Given the description of an element on the screen output the (x, y) to click on. 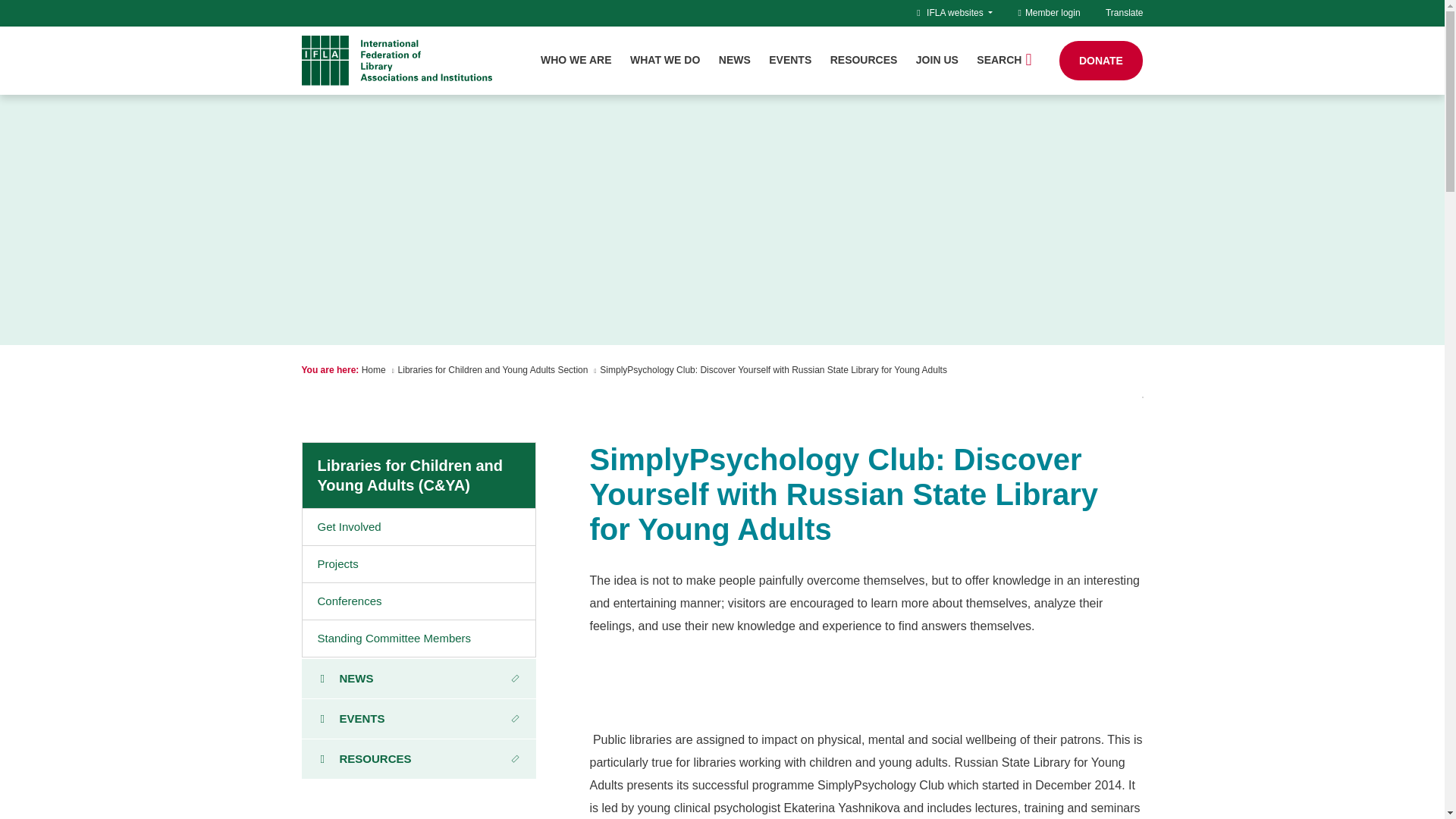
RESOURCES (863, 60)
Libraries for Children and Young Adults Section (492, 369)
Home (373, 369)
Translate (1123, 12)
Member login (1048, 12)
IFLA websites (959, 12)
WHAT WE DO (665, 60)
WHO WE ARE (575, 60)
DONATE (1100, 60)
